Given the description of an element on the screen output the (x, y) to click on. 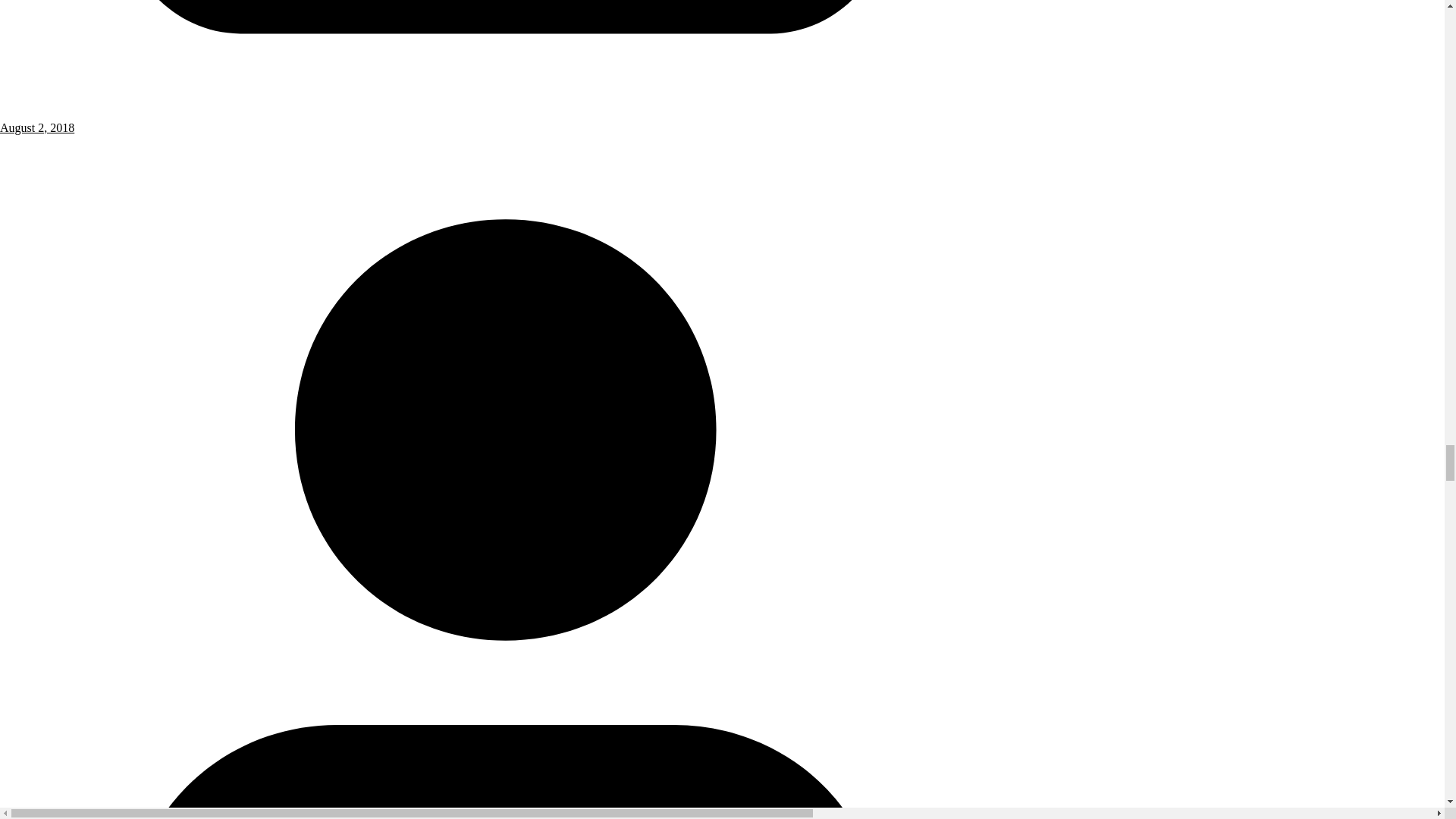
7:24 am (505, 120)
